Given the description of an element on the screen output the (x, y) to click on. 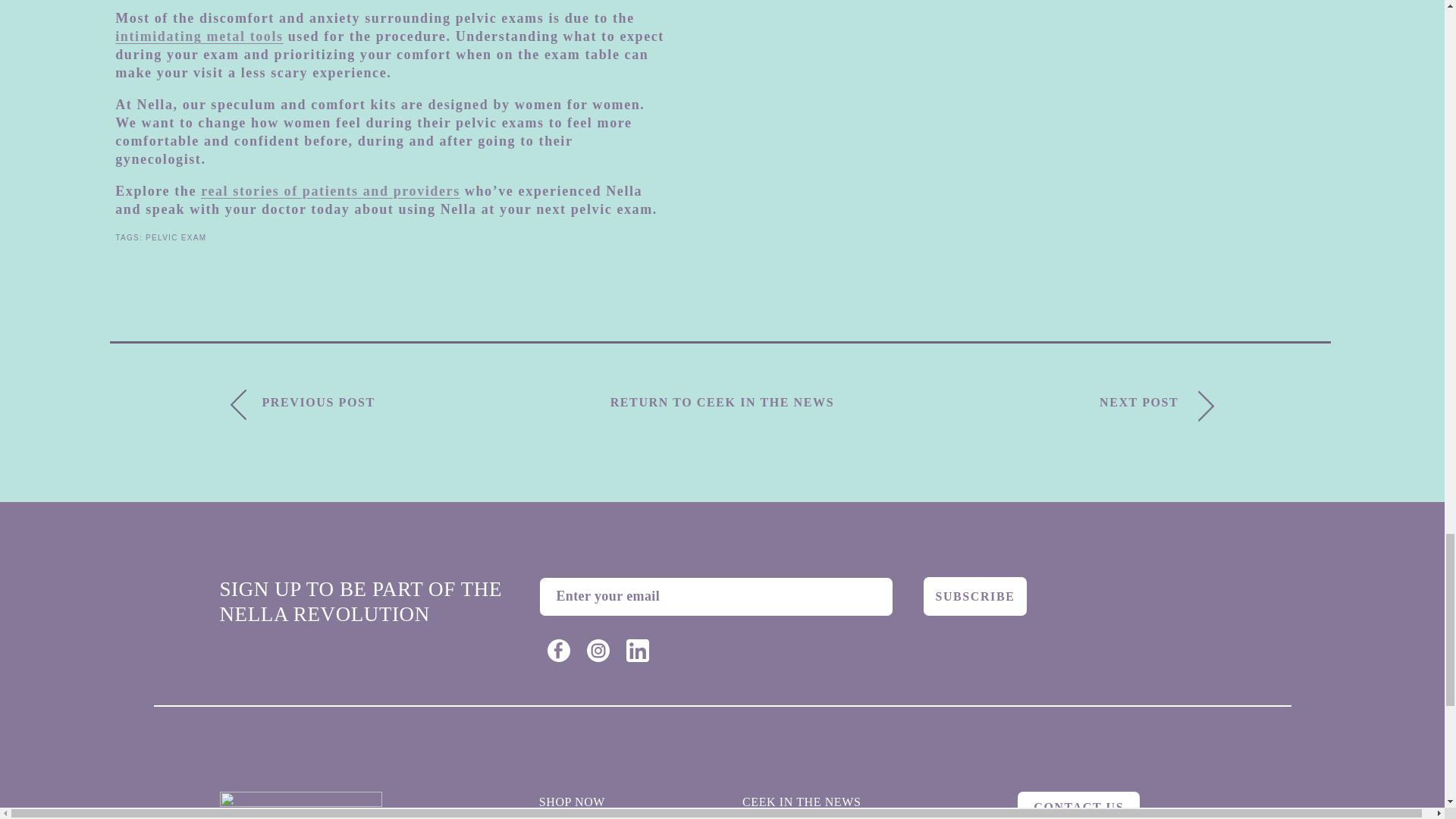
Contact Us (1078, 805)
Show articles tagged Pelvic Exam (175, 237)
